Given the description of an element on the screen output the (x, y) to click on. 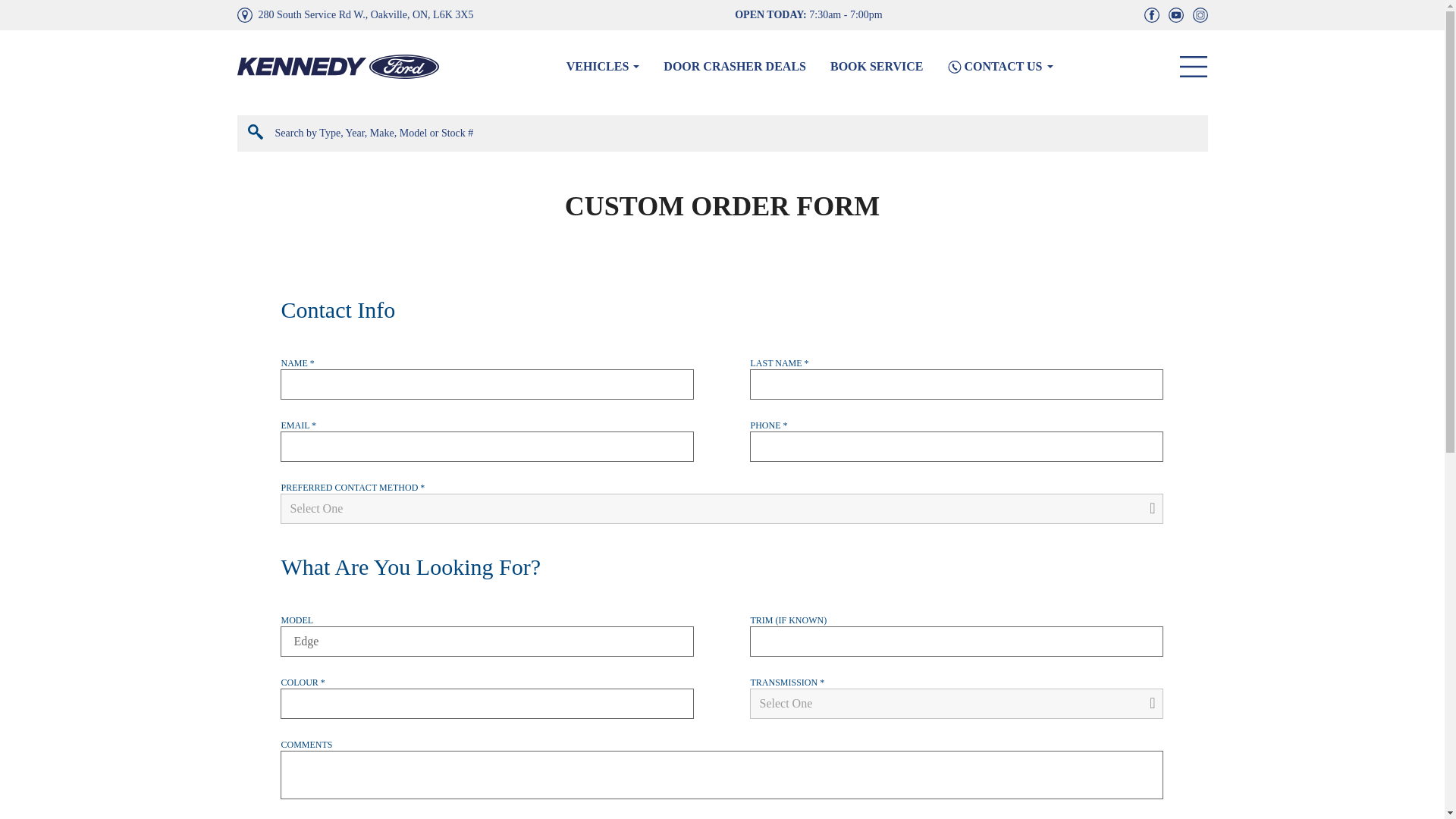
Visit our Instagram Page (1196, 14)
Visit our YouTube Channel (1171, 14)
Address (366, 15)
Edge (487, 641)
Visit our Facebook Page (1150, 14)
280 South Service Rd W., Oakville, ON, L6K 3X5 (366, 15)
